Given the description of an element on the screen output the (x, y) to click on. 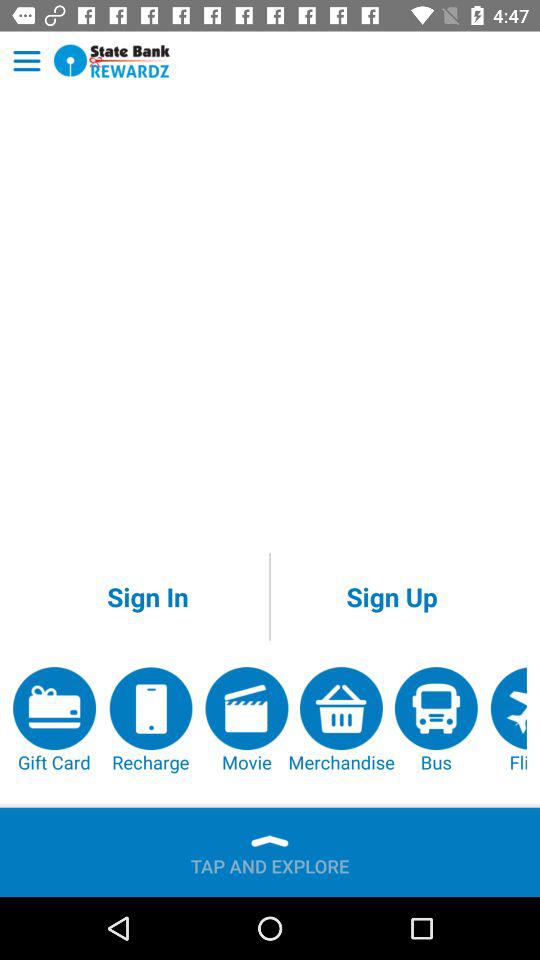
launch the tap and explore item (270, 861)
